Given the description of an element on the screen output the (x, y) to click on. 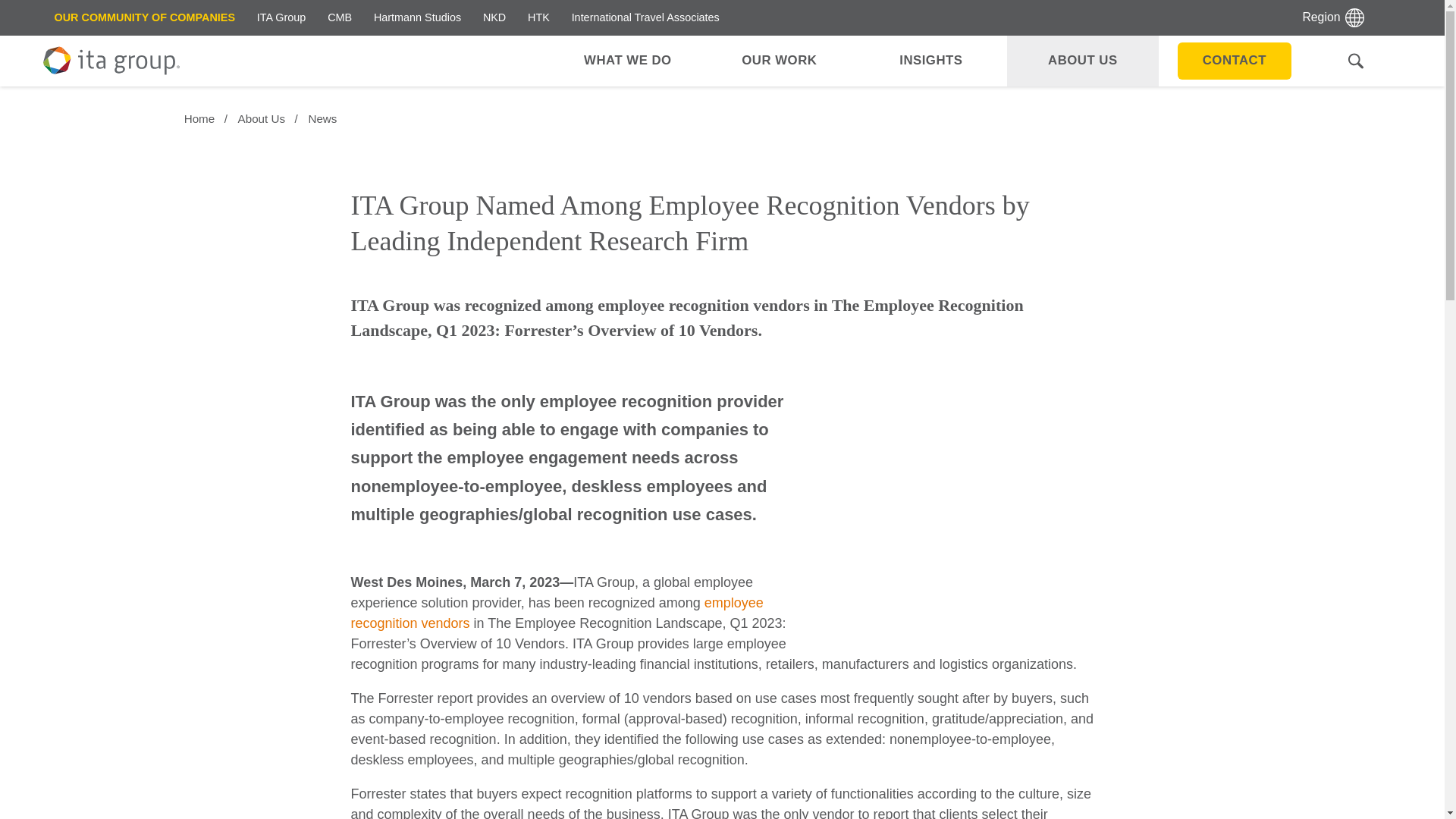
ITA Group. Link to homepage (111, 60)
NKD (493, 17)
Select Your Region (1332, 18)
Employee Recognition (556, 612)
WHAT WE DO (627, 60)
HTK (538, 17)
International Travel Associates (645, 17)
ITA Group (280, 17)
Region (1332, 18)
Hartmann Studios (416, 17)
CMB (339, 17)
